Given the description of an element on the screen output the (x, y) to click on. 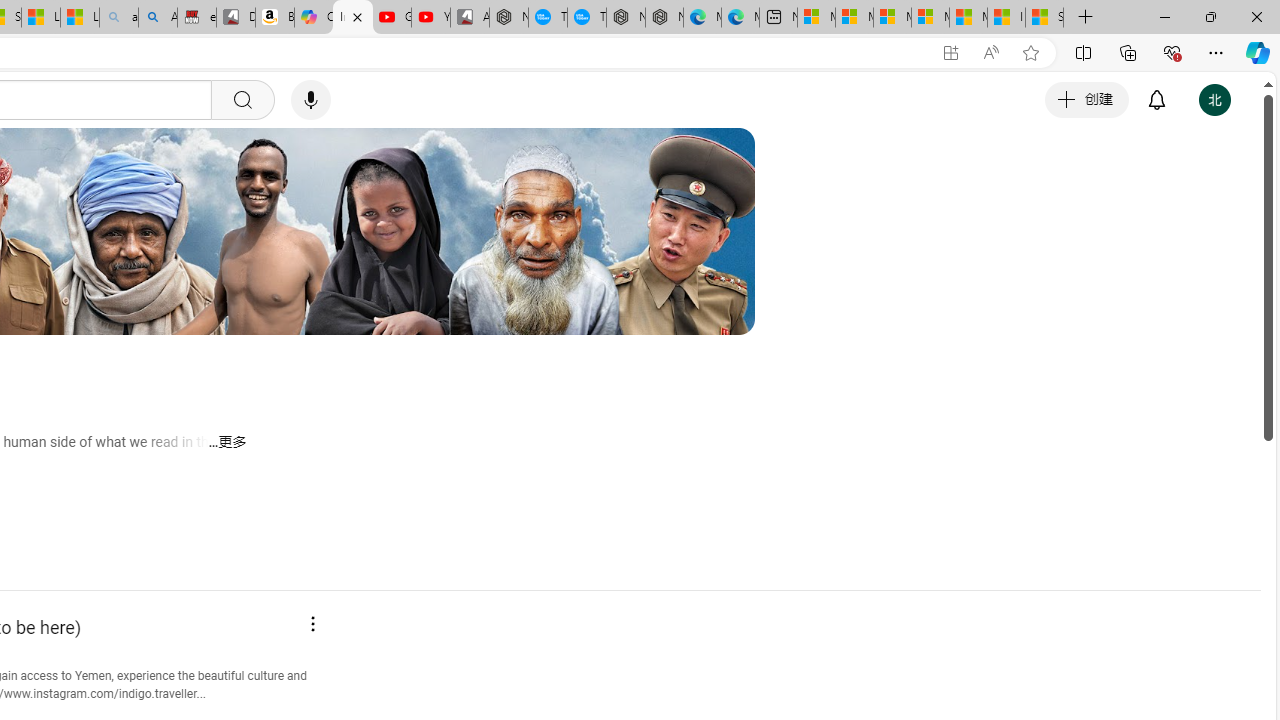
Nordace - My Account (509, 17)
